Given the description of an element on the screen output the (x, y) to click on. 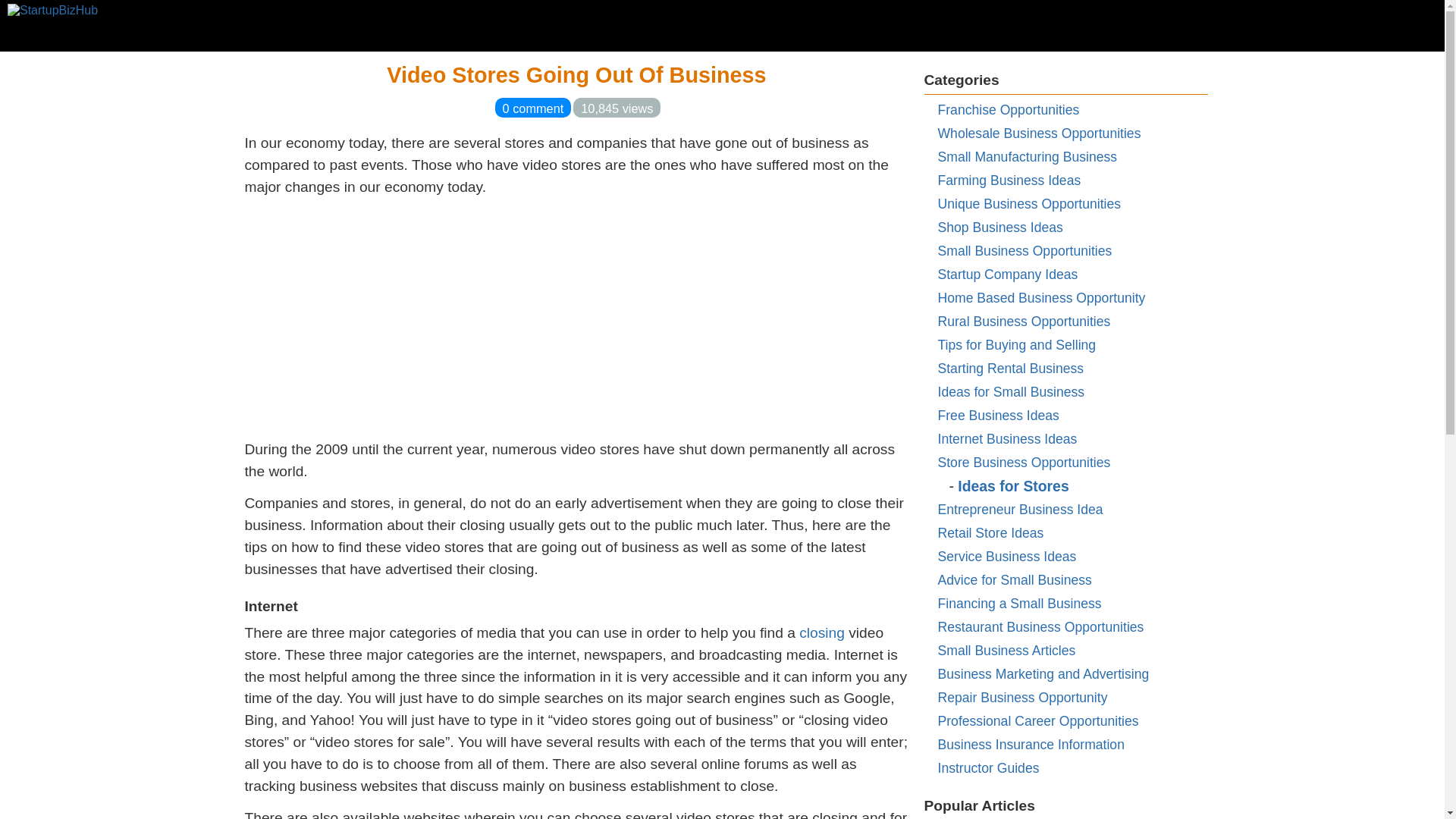
Wholesale Business Opportunities (1038, 133)
Small Business Opportunities (1024, 250)
Instructor Guides (988, 767)
Financing a Small Business (1018, 603)
Franchise Opportunities (1007, 109)
Entrepreneur Business Idea (1019, 509)
Rural Business Opportunities (1023, 321)
closing (821, 632)
Home Based Business Opportunity (1040, 297)
Retail Store Ideas (990, 532)
Professional Career Opportunities (1037, 720)
0 comment (533, 108)
Farming Business Ideas (1008, 180)
Store Business Opportunities (1023, 462)
Restaurant Business Opportunities (1039, 626)
